Given the description of an element on the screen output the (x, y) to click on. 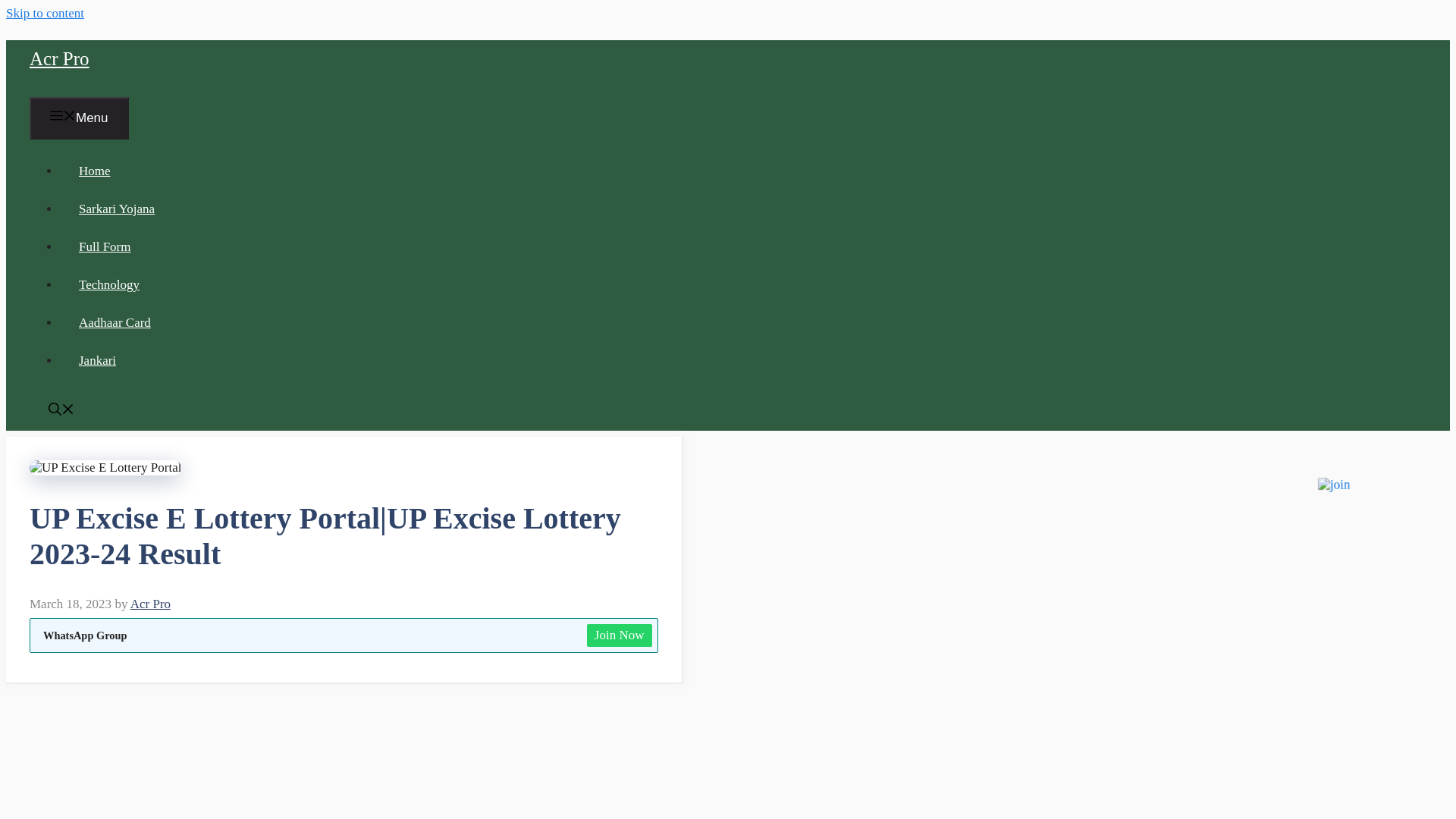
Skip to content (44, 12)
Menu (79, 118)
Acr Pro (58, 58)
Aadhaar Card (114, 322)
Technology (108, 284)
Sarkari Yojana (116, 208)
Acr Pro (150, 603)
Full Form (104, 246)
Home (94, 170)
Skip to content (44, 12)
